Given the description of an element on the screen output the (x, y) to click on. 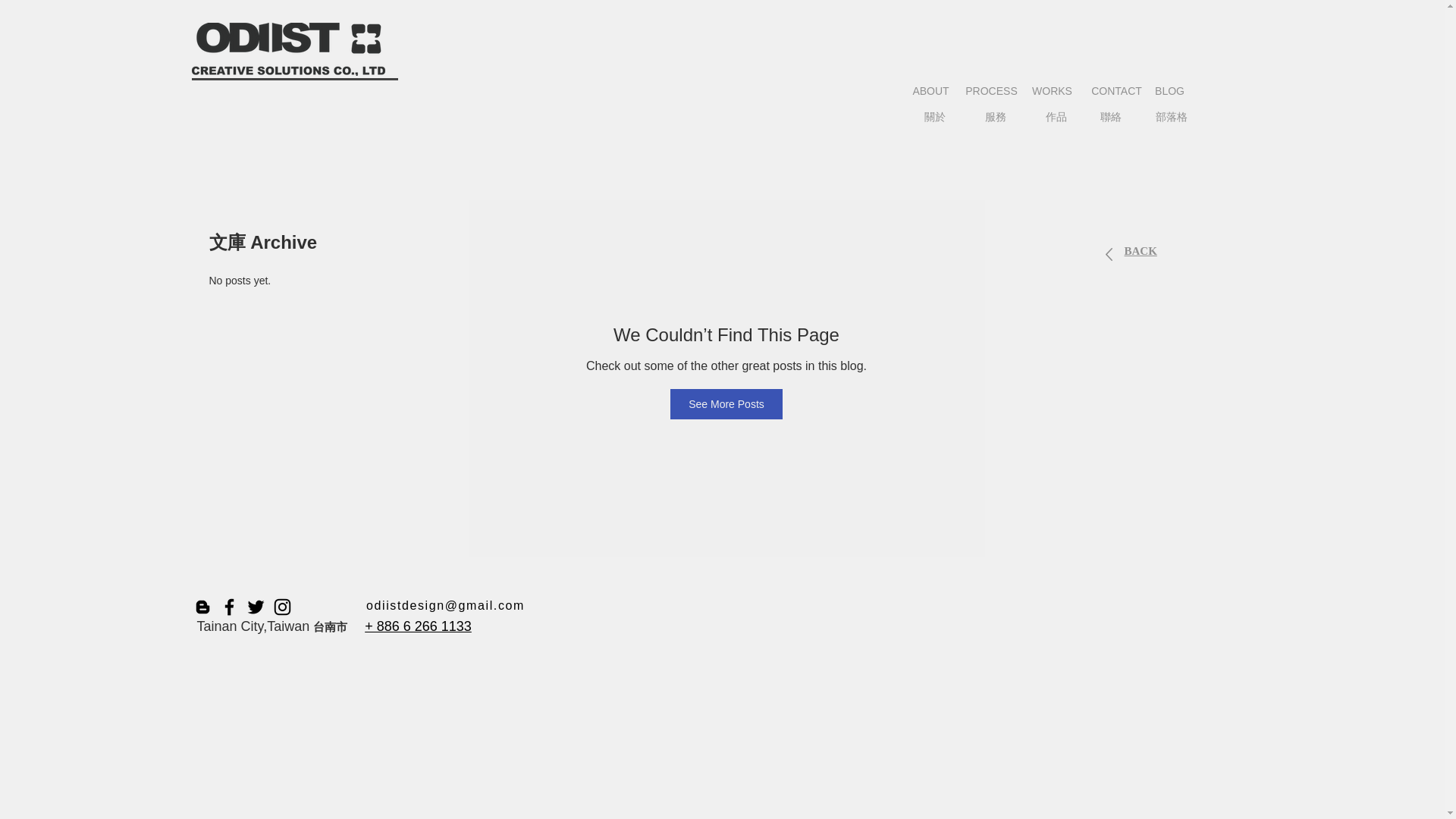
ABOUT (930, 91)
CONTACT (1116, 91)
BLOG (1170, 91)
PROCESS (991, 91)
See More Posts (726, 404)
WORKS (1052, 91)
BACK (1140, 250)
